Given the description of an element on the screen output the (x, y) to click on. 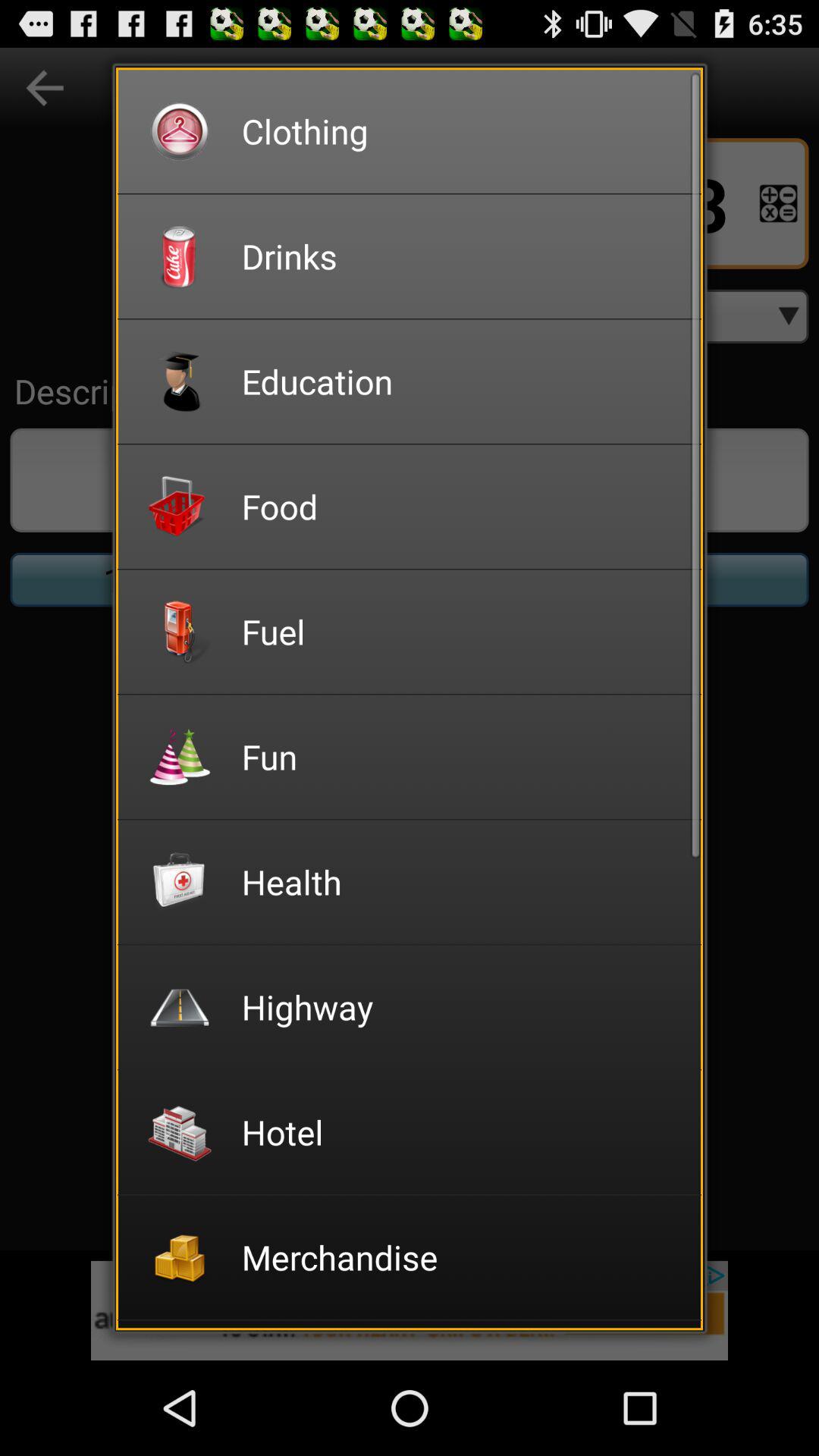
flip until drinks item (461, 256)
